Given the description of an element on the screen output the (x, y) to click on. 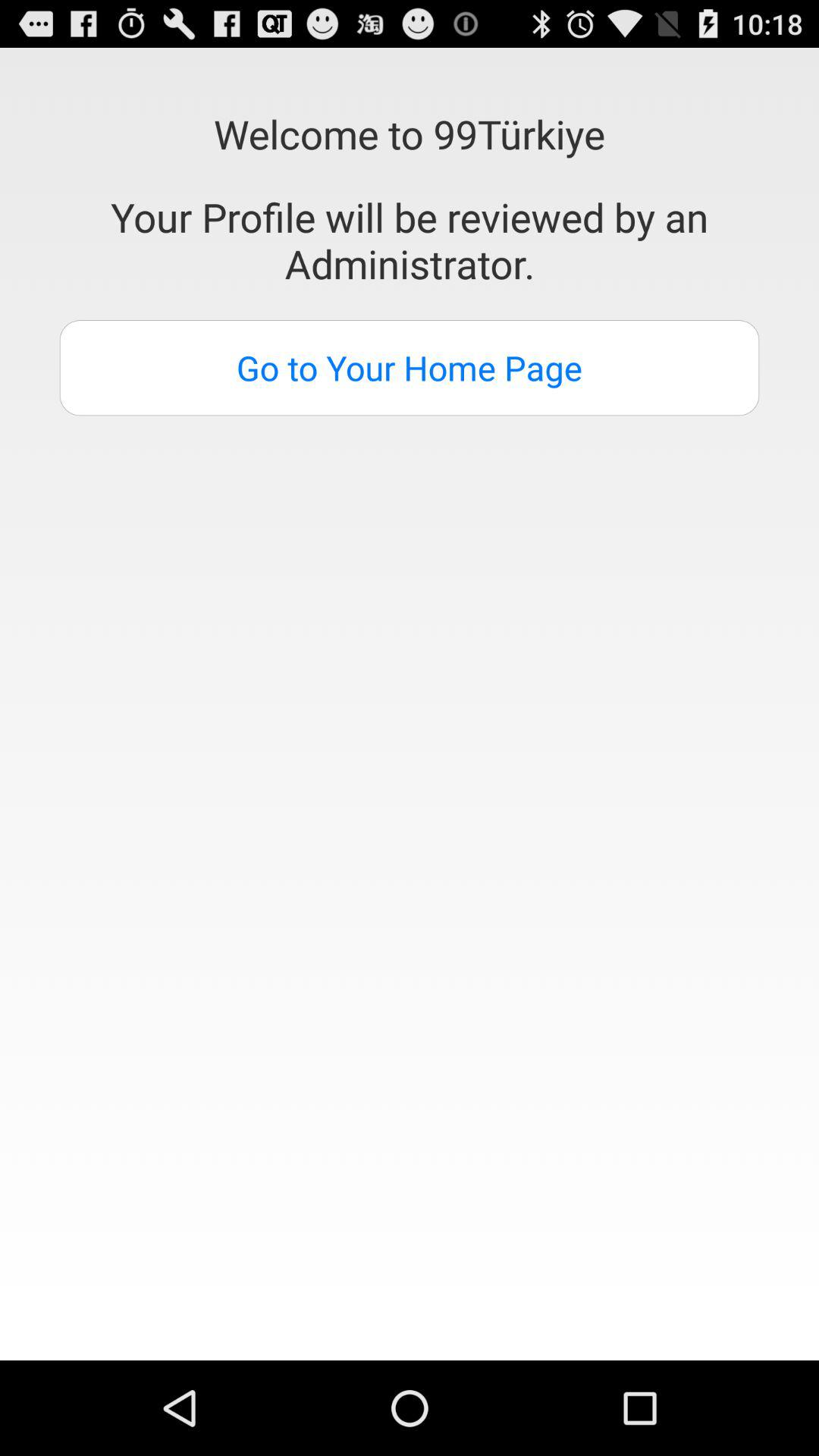
launch item below the your profile will icon (409, 367)
